Given the description of an element on the screen output the (x, y) to click on. 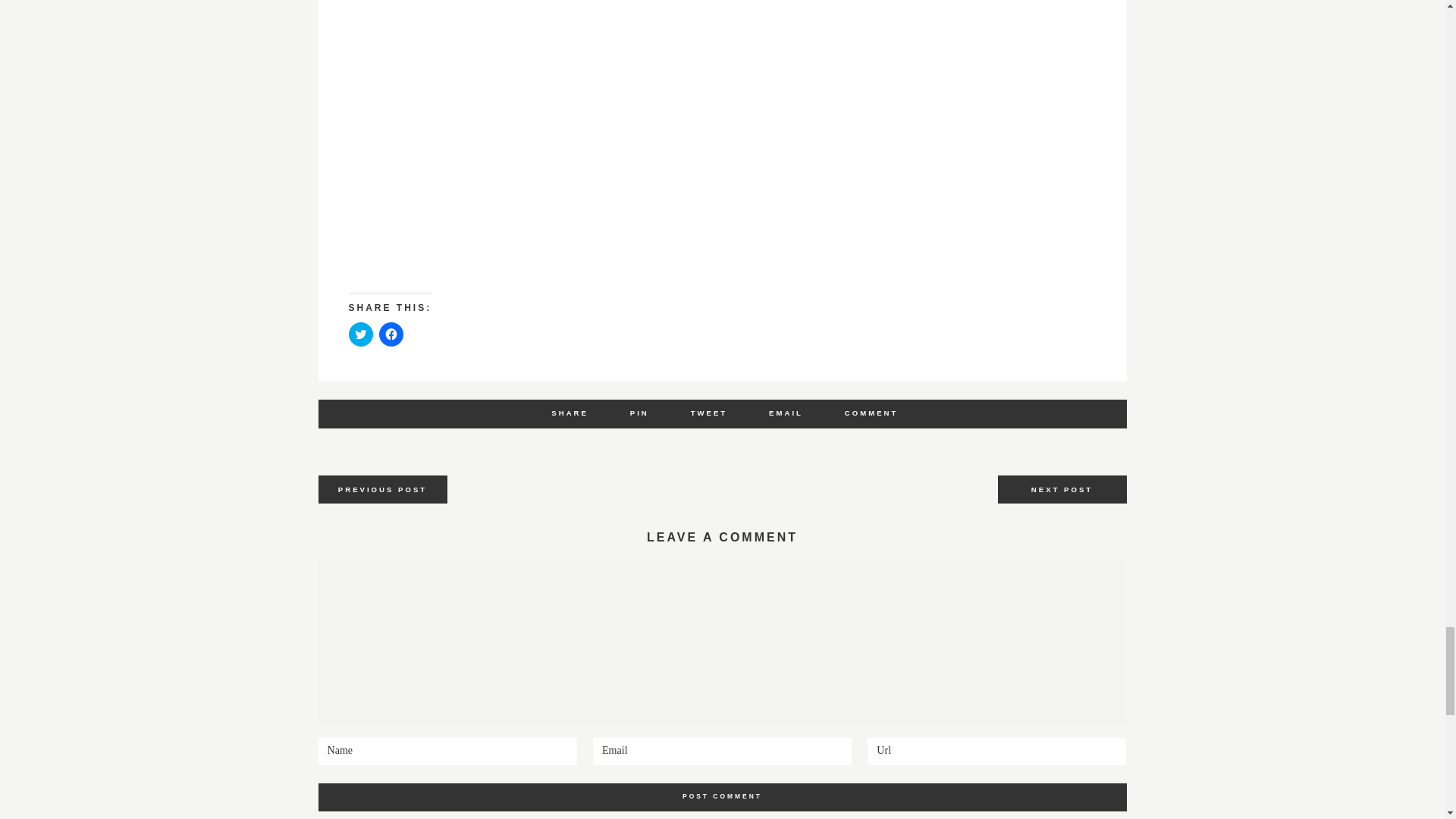
Twitter (709, 412)
NEXT POST (1061, 489)
TWEET (709, 412)
PIN (639, 412)
Click to share on Facebook (390, 334)
Post Comment (722, 796)
COMMENT (871, 412)
SHARE (569, 412)
PREVIOUS POST (382, 489)
EMAIL (785, 412)
